Given the description of an element on the screen output the (x, y) to click on. 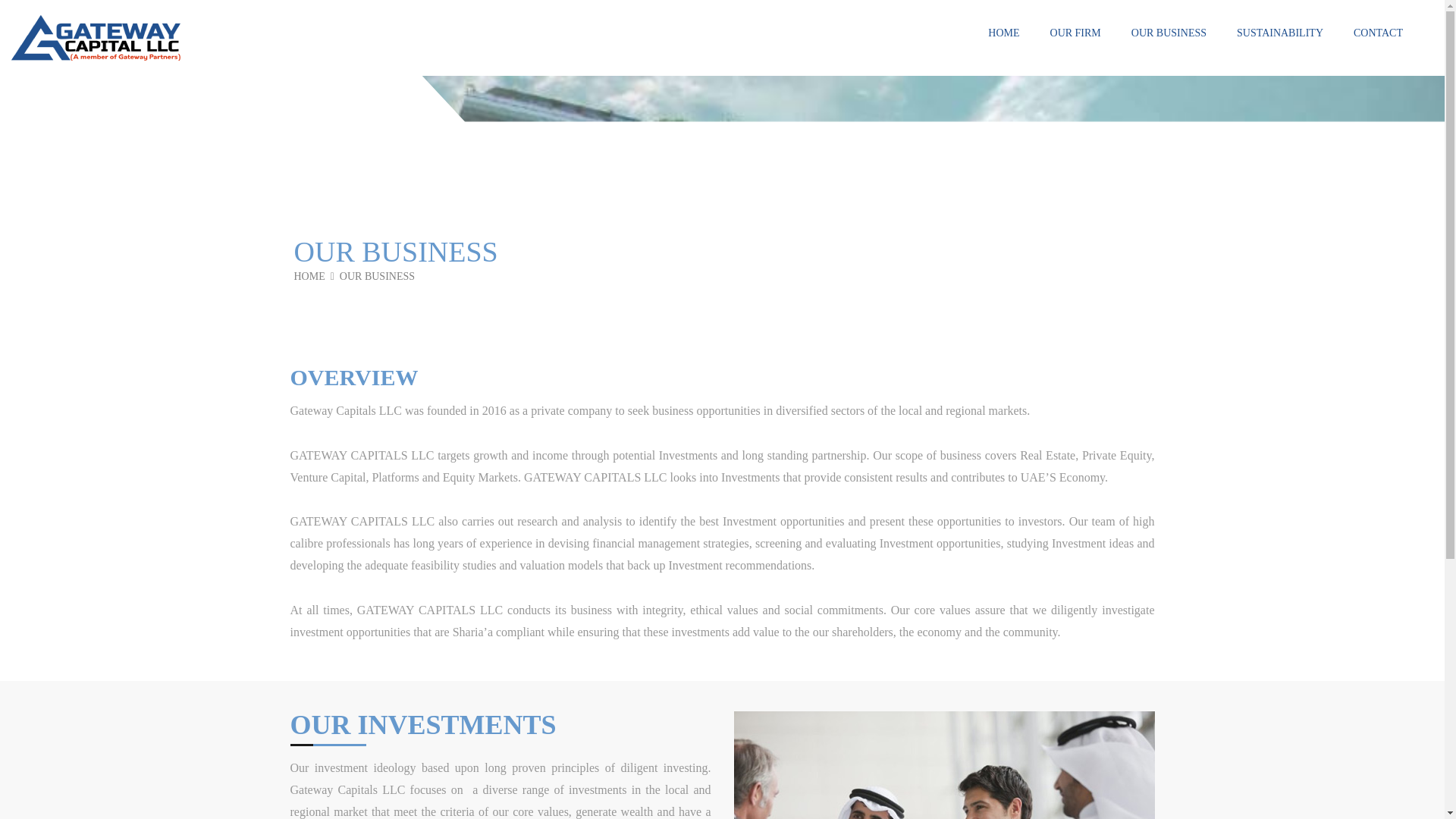
CONTACT (1378, 47)
HOME (314, 276)
OUR BUSINESS (1169, 47)
OUR FIRM (1074, 47)
SUSTAINABILITY (1279, 47)
Go to Gateway Capitals LLC. (314, 276)
